Given the description of an element on the screen output the (x, y) to click on. 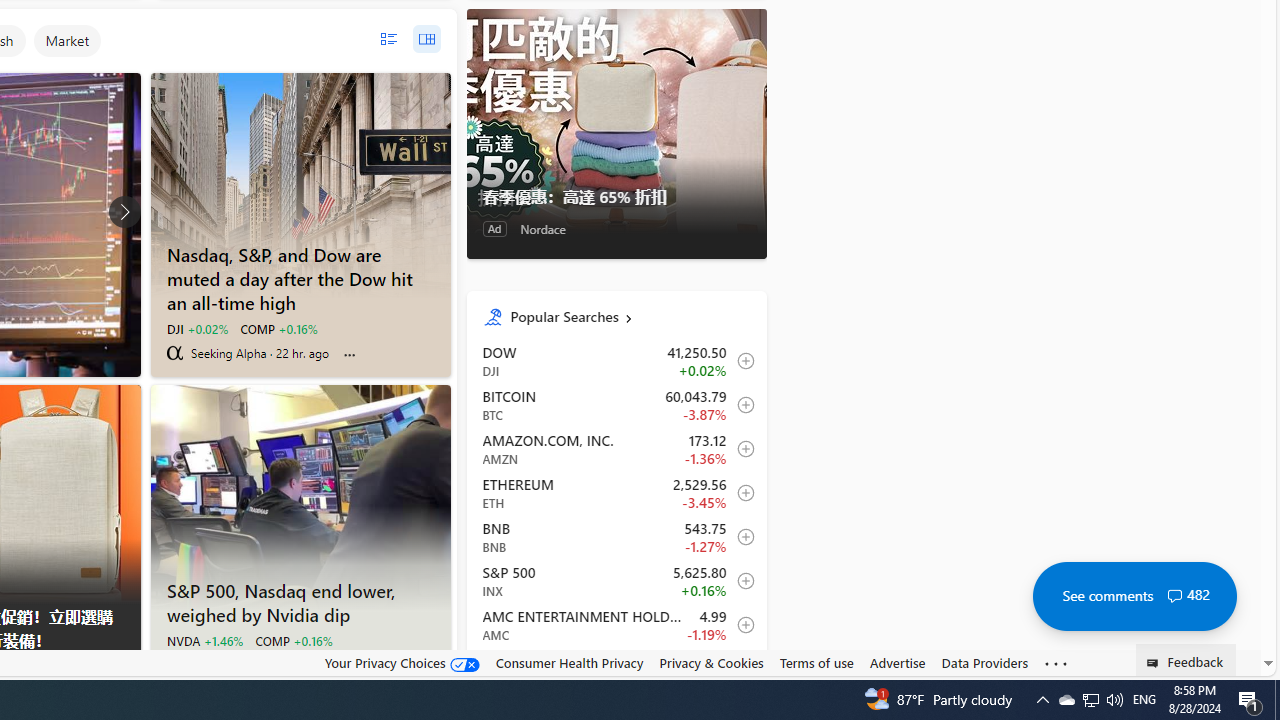
Your Privacy Choices (401, 662)
Feedback (1186, 659)
Class: notInWatclistIcon-DS-EntryPoint1-6 lightTheme (740, 668)
grid layout (426, 39)
Terms of use (816, 662)
Reuters (174, 664)
list layout (388, 39)
DJI DOW increase 41,250.50 +9.98 +0.02% itemundefined (615, 361)
Your Privacy Choices (401, 663)
ADA Cardano decrease 0.36 -0.00 -1.27% itemundefined (615, 669)
Popular Searches (630, 316)
Data Providers (983, 662)
